Given the description of an element on the screen output the (x, y) to click on. 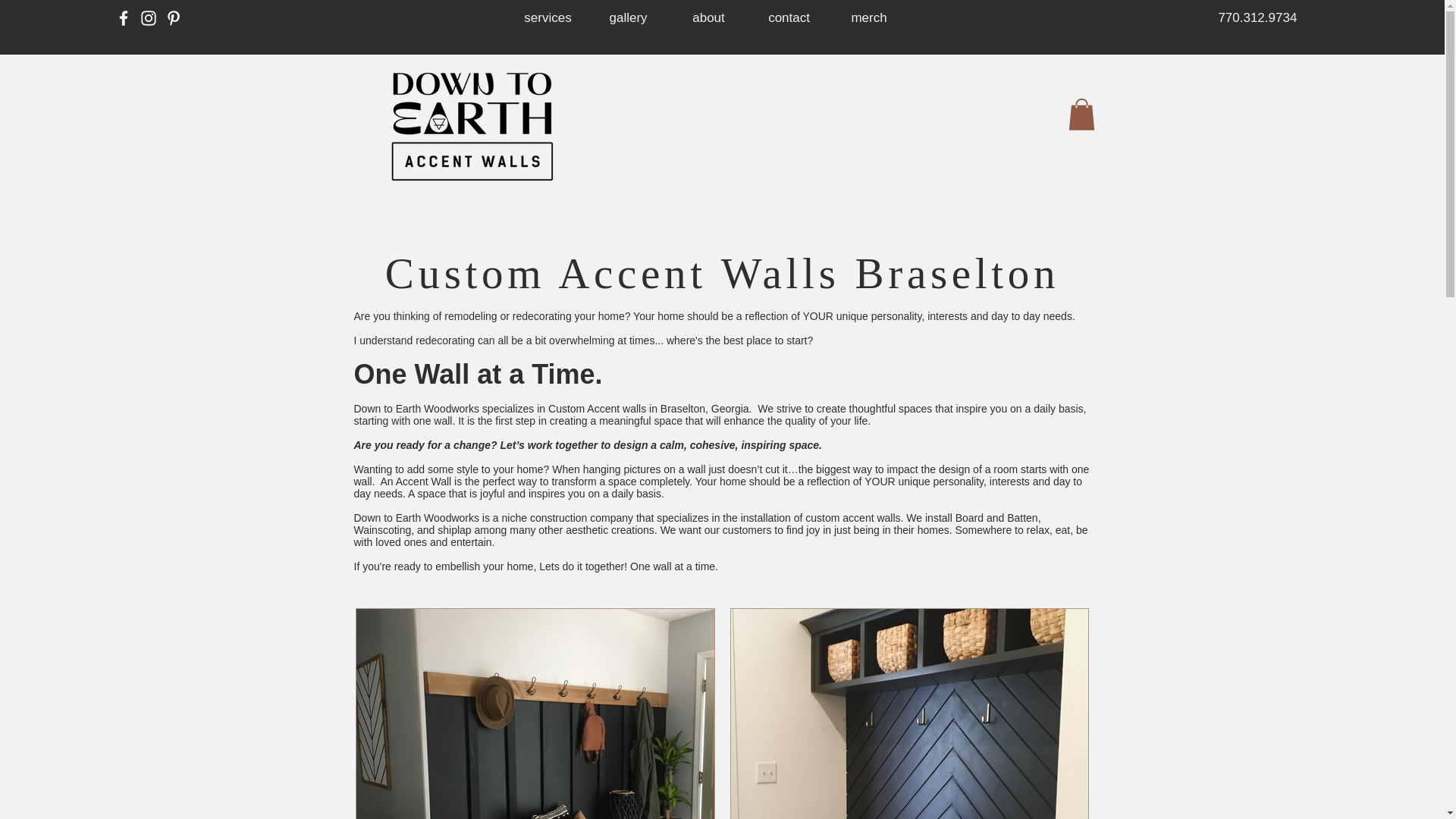
contact (789, 18)
merch (868, 18)
about (708, 18)
services (548, 18)
gallery (628, 18)
